Given the description of an element on the screen output the (x, y) to click on. 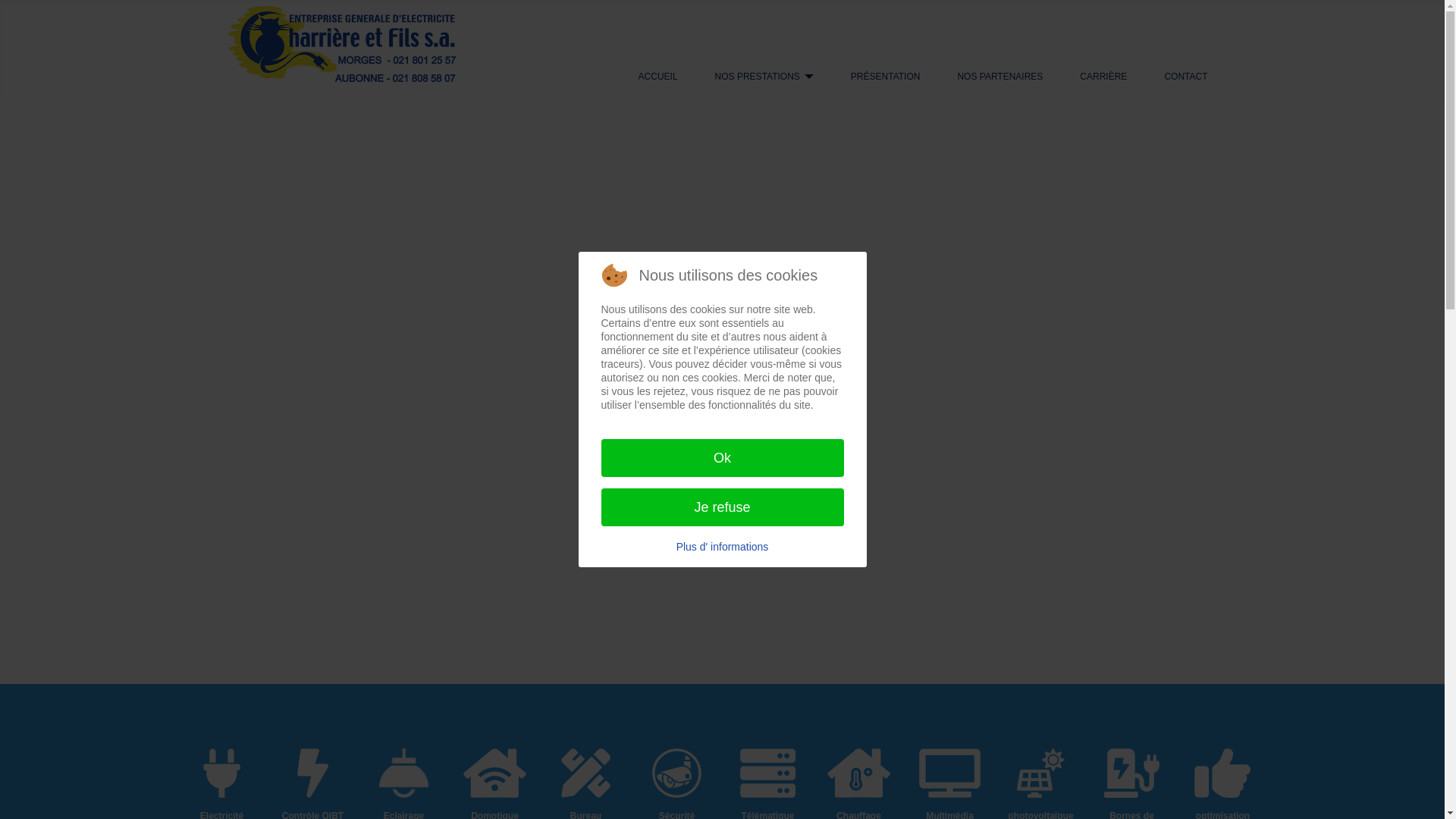
NOS PARTENAIRES Element type: text (999, 76)
Ok Element type: text (721, 457)
ACCUEIL Element type: text (657, 76)
CONTACT Element type: text (1185, 76)
Plus d' informations Element type: text (722, 546)
Je refuse Element type: text (721, 507)
NOS PRESTATIONS Element type: text (757, 76)
